Given the description of an element on the screen output the (x, y) to click on. 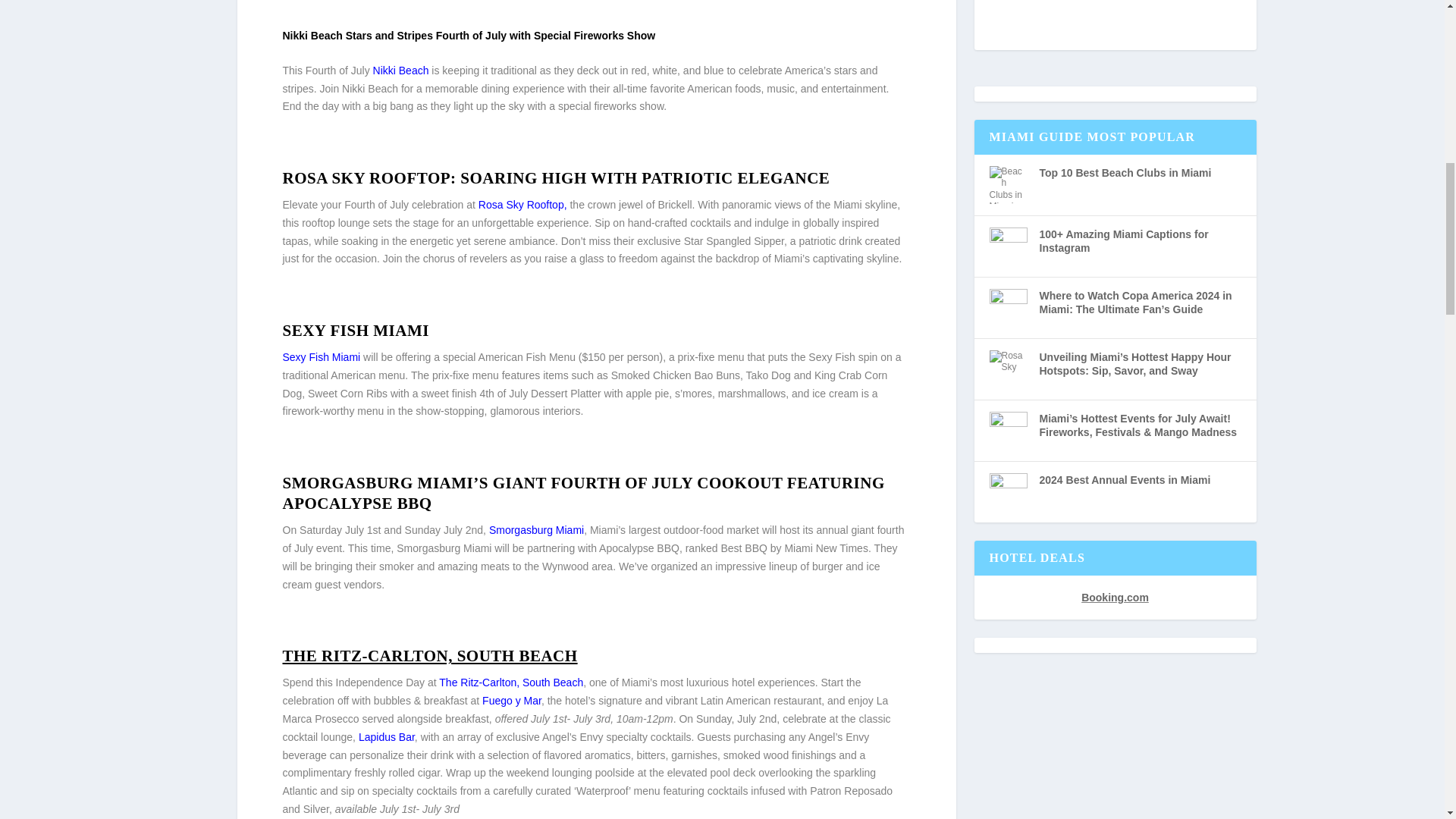
Lapidus Bar (386, 736)
 Fuego y Mar (510, 700)
Rosa Sky Rooftop, (523, 204)
 The Ritz-Carlton, South Beach (509, 682)
Smorgasburg Miami (536, 530)
Nikki Beach (400, 70)
Sexy Fish Miami (320, 357)
